Given the description of an element on the screen output the (x, y) to click on. 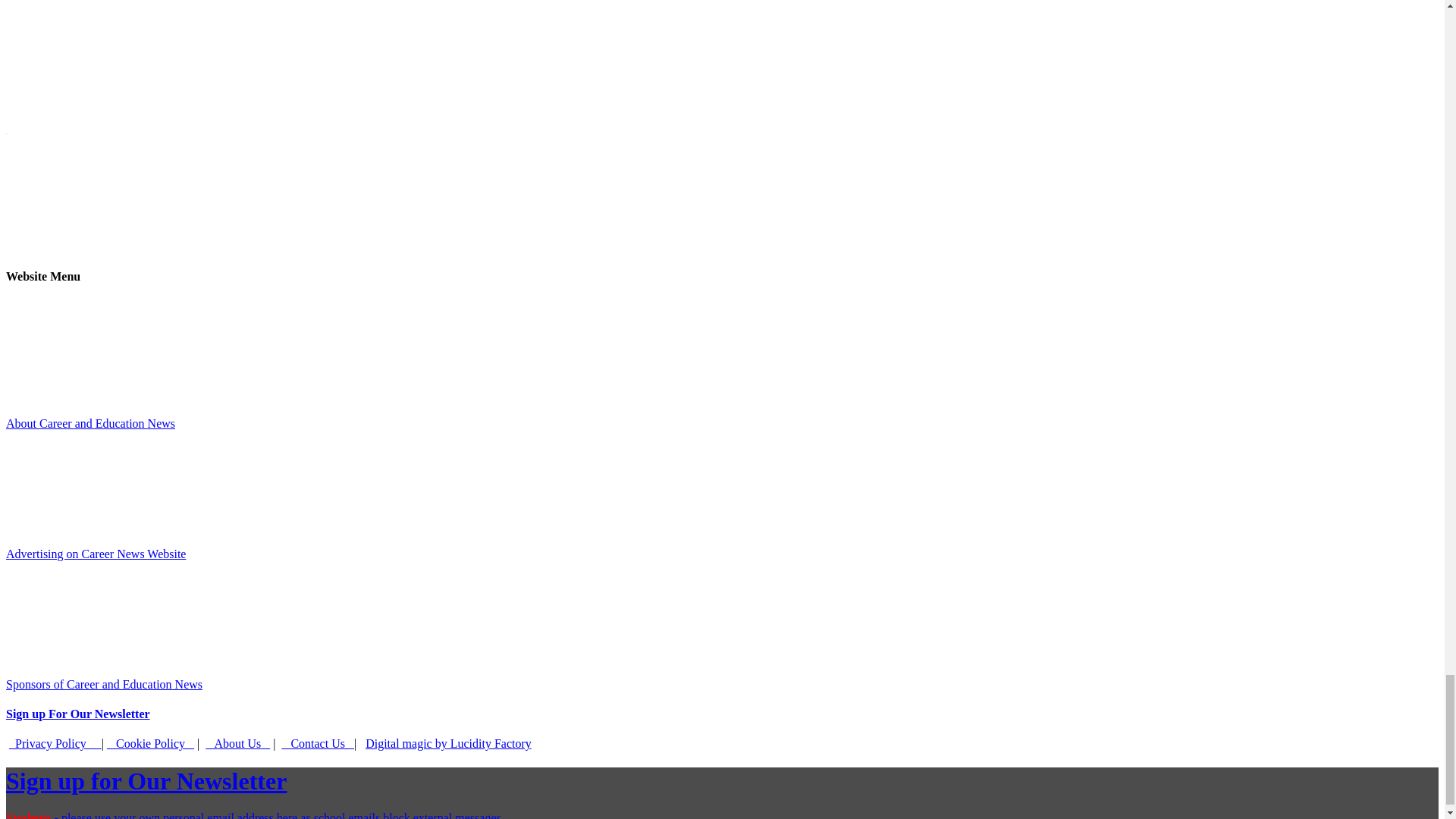
Visit our Facebook (118, 193)
Visit our Twitter (346, 193)
